Given the description of an element on the screen output the (x, y) to click on. 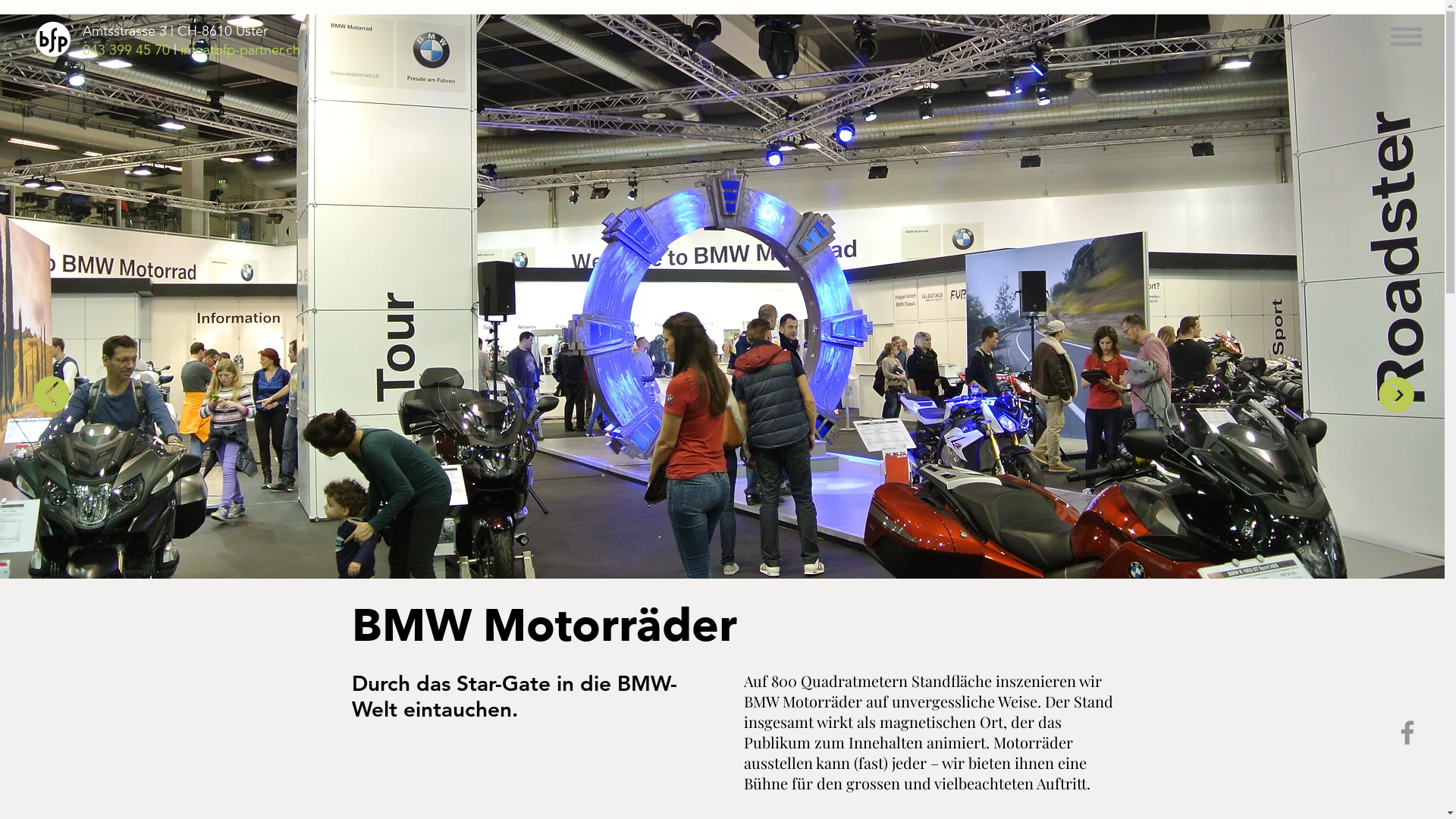
bfp_neg.png Element type: hover (54, 39)
infoatbfp-partner.ch Element type: text (240, 49)
